Given the description of an element on the screen output the (x, y) to click on. 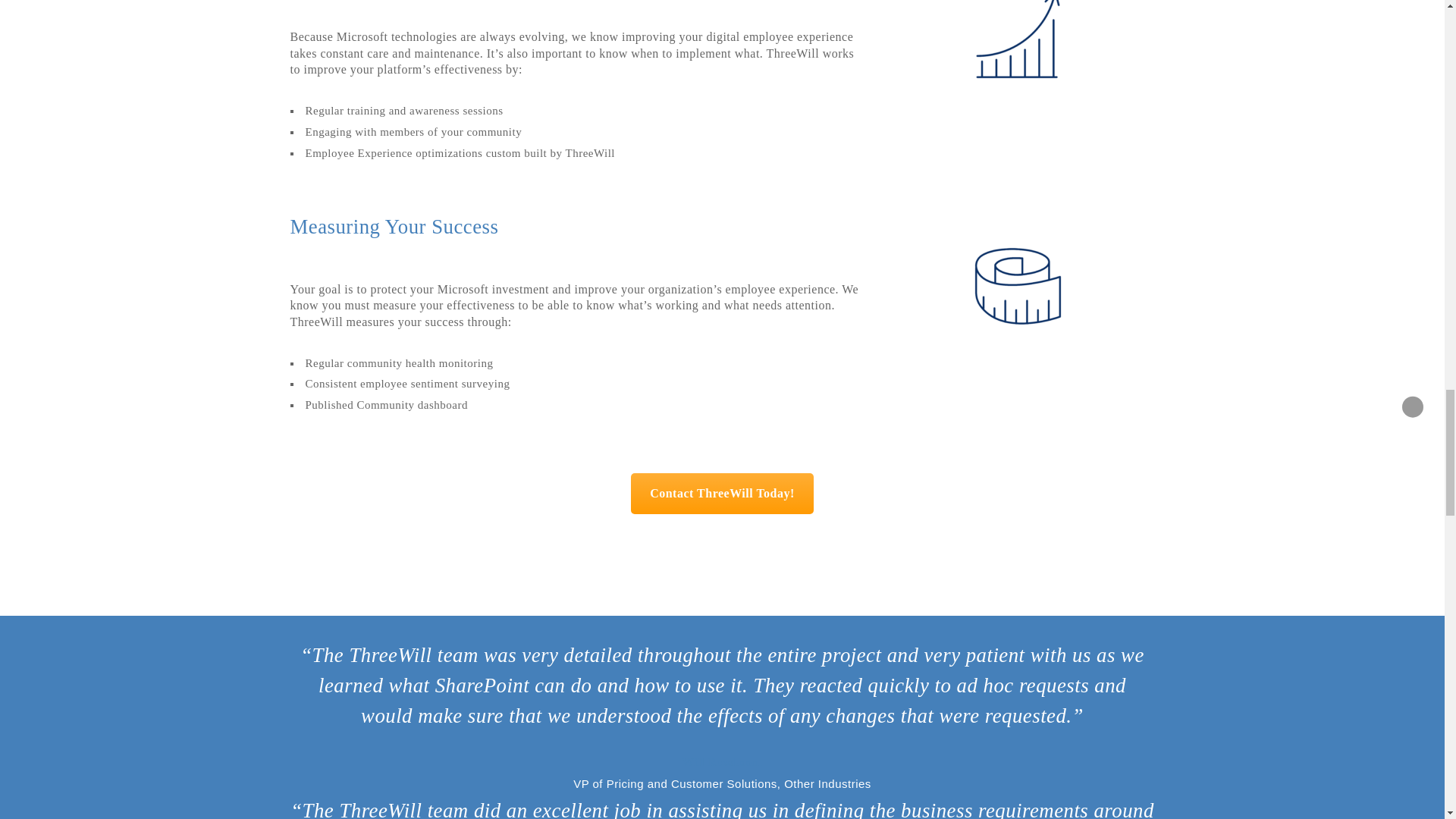
Measure Your Success (1018, 286)
Improving Your Performance (1018, 40)
Contact Us (721, 493)
